Given the description of an element on the screen output the (x, y) to click on. 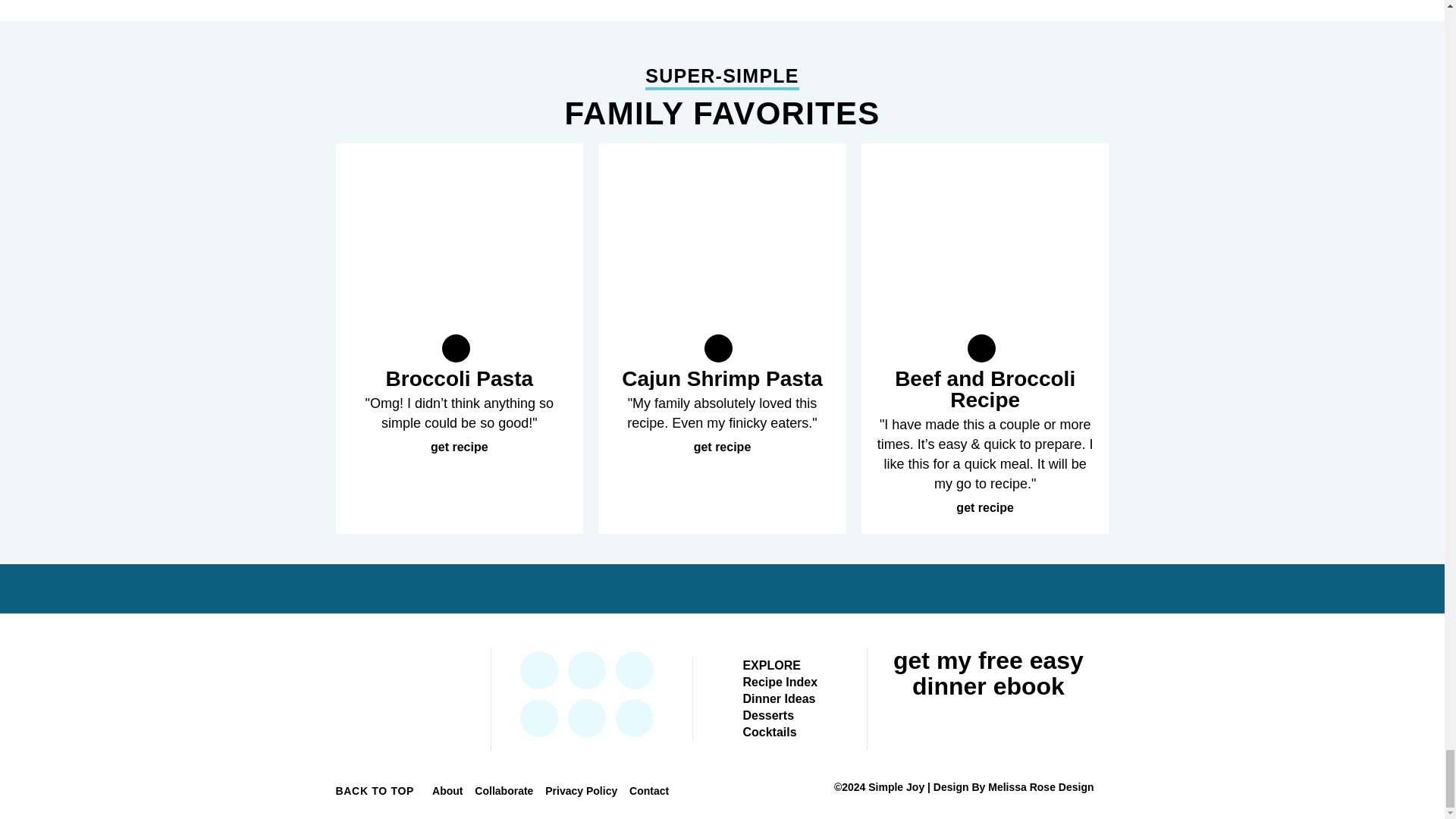
Recipe Index (779, 681)
Desserts (767, 715)
Dinner Ideas (778, 698)
Cocktails (769, 731)
